Given the description of an element on the screen output the (x, y) to click on. 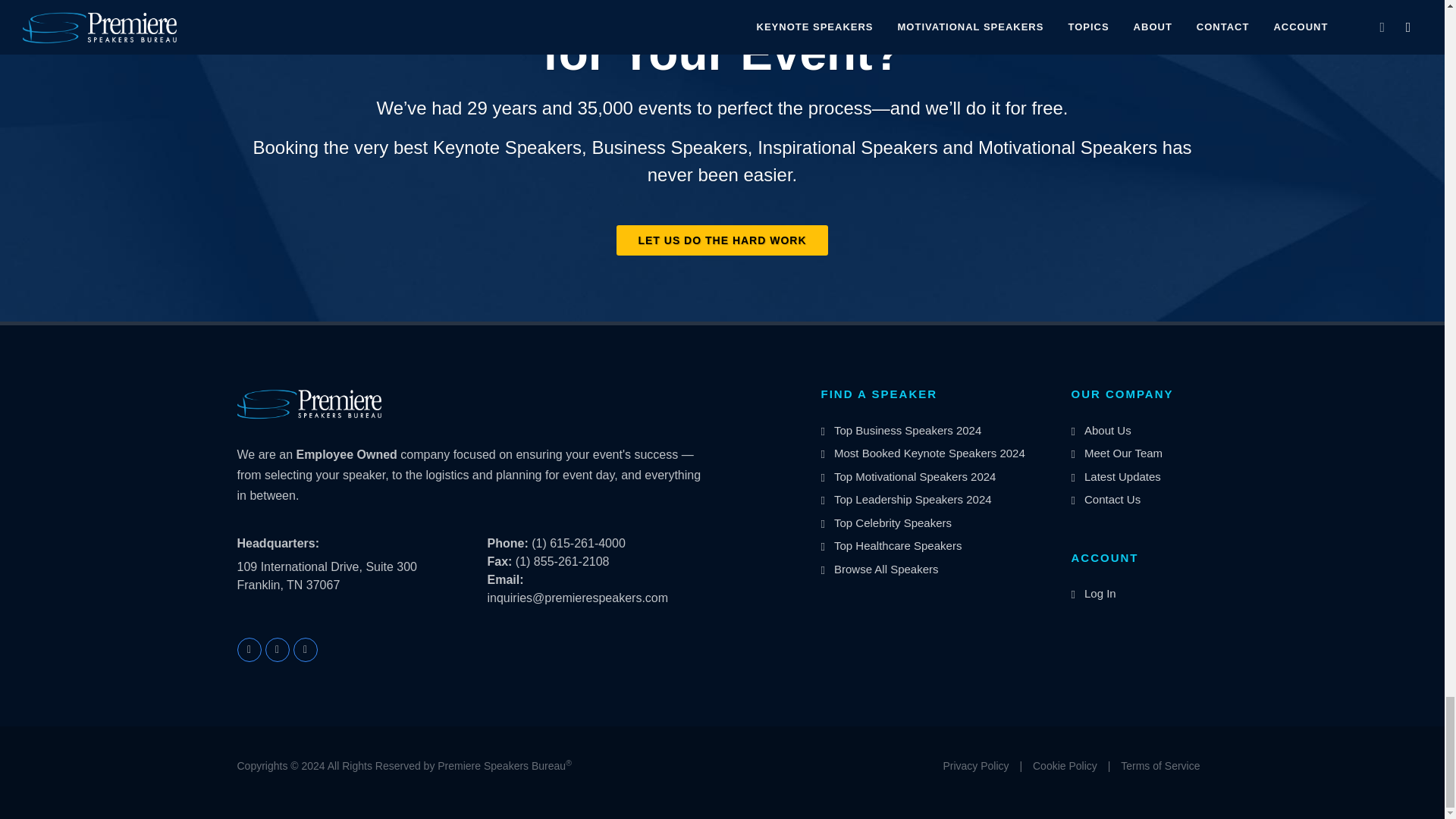
Phone Number (506, 543)
Fax (499, 561)
Headquarters (276, 543)
Privacy Policy (975, 765)
Email Address (504, 579)
